Given the description of an element on the screen output the (x, y) to click on. 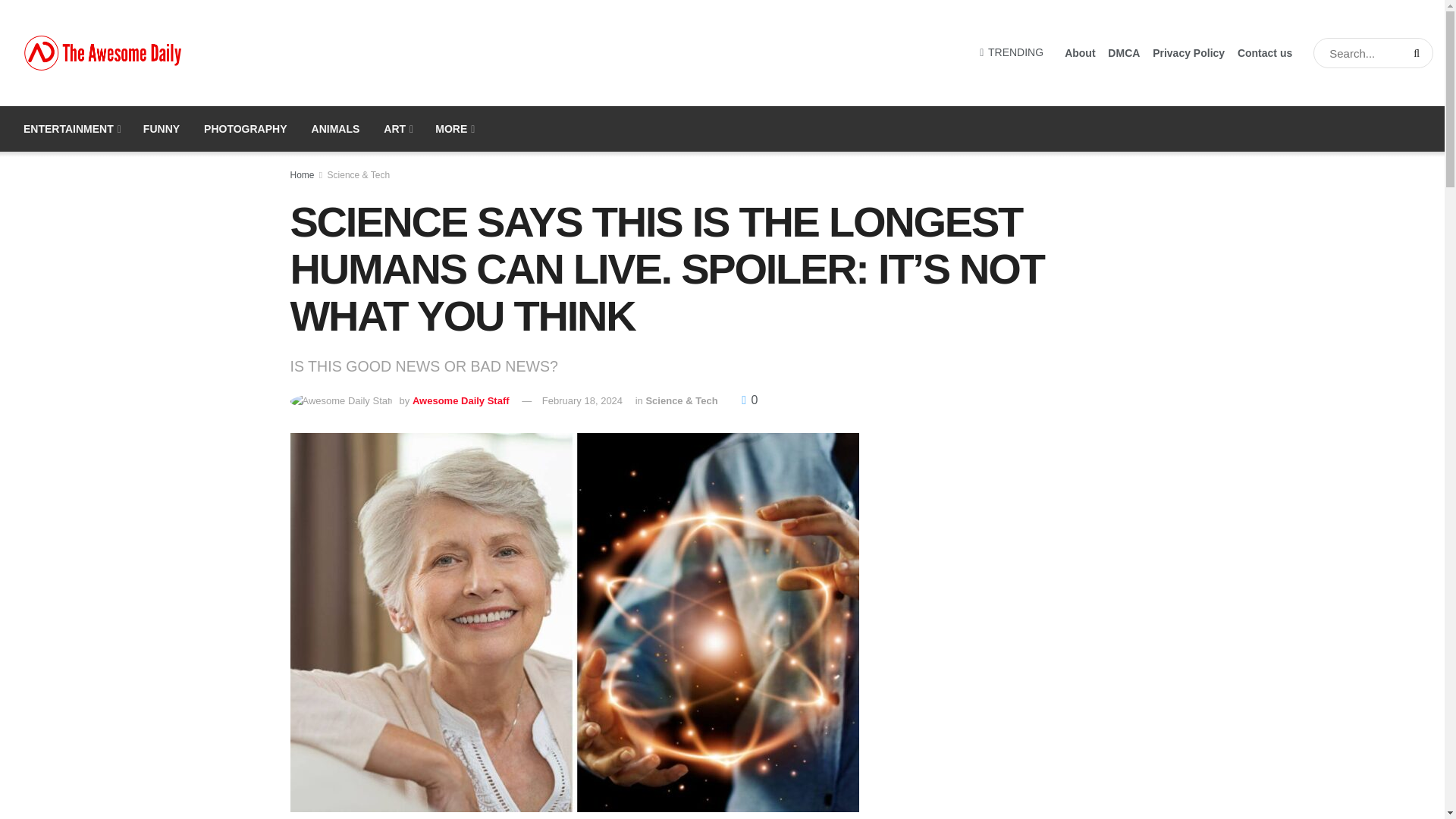
February 18, 2024 (582, 400)
FUNNY (161, 128)
0 (749, 399)
ART (397, 128)
ANIMALS (335, 128)
Privacy Policy (1188, 53)
Contact us (1264, 53)
ENTERTAINMENT (71, 128)
Awesome Daily Staff (460, 400)
MORE (453, 128)
